Given the description of an element on the screen output the (x, y) to click on. 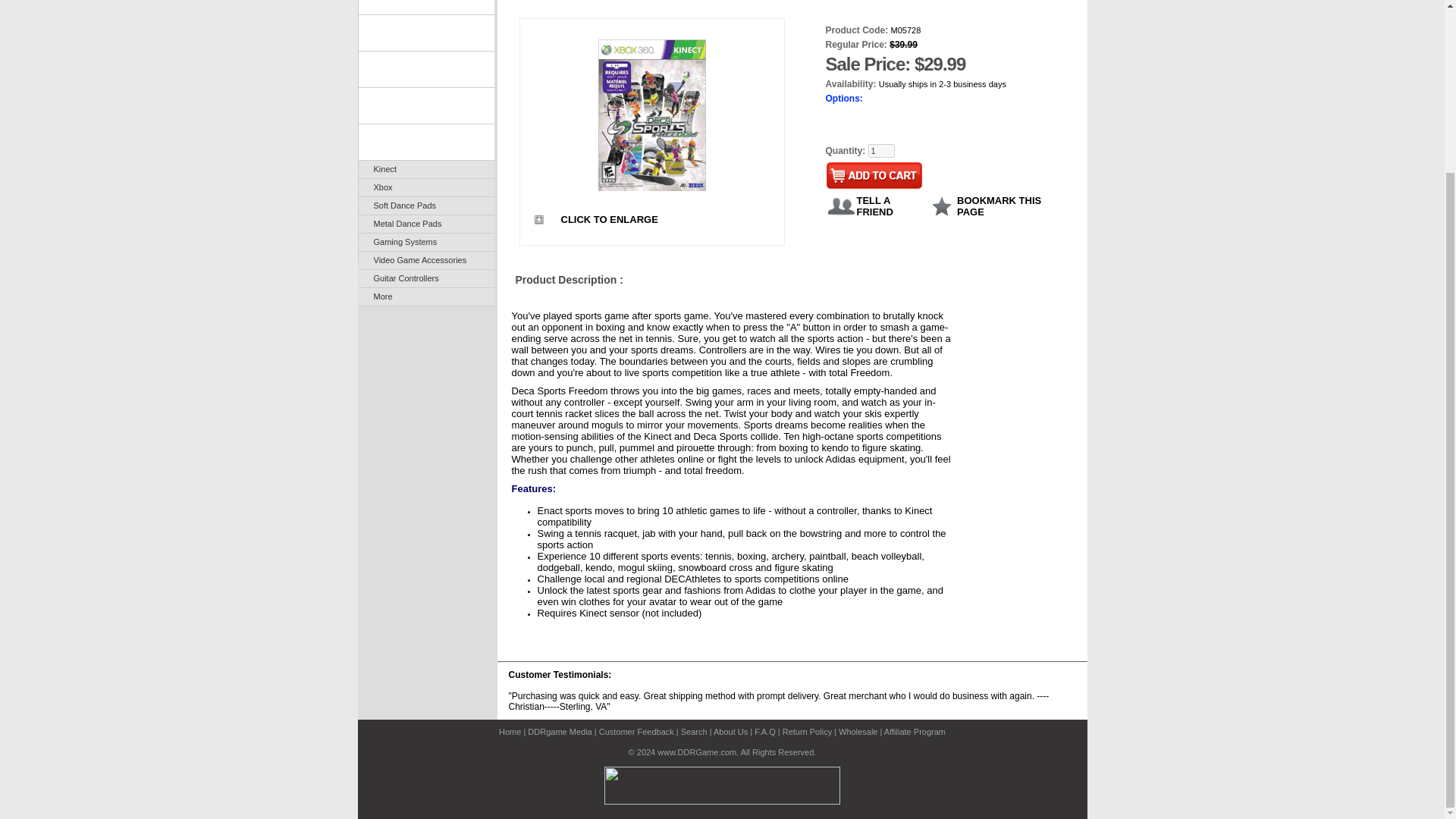
Kinect (425, 169)
Xbox (425, 187)
Video Game Accessories (425, 260)
Guitar Controllers (425, 279)
Gaming Systems (425, 241)
Soft Dance Pads (425, 205)
1 (880, 151)
Xbox 360 - Deca Sports Freedom (652, 114)
Metal Dance Pads (425, 223)
More (425, 297)
